Given the description of an element on the screen output the (x, y) to click on. 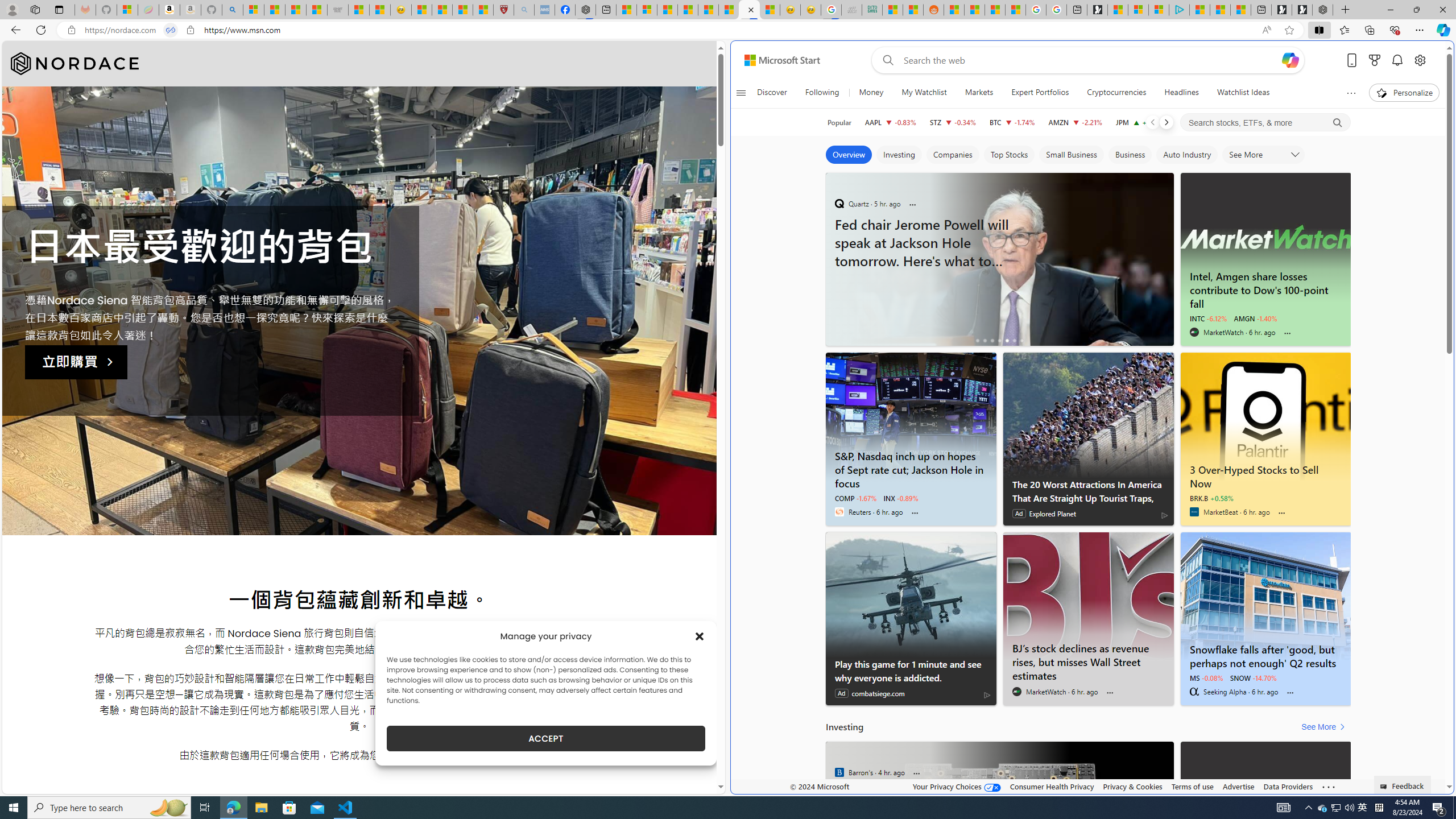
Business (1129, 154)
Popular (839, 121)
Headlines (1181, 92)
Auto Industry (1187, 154)
Small Business (1071, 154)
AdChoices (987, 694)
Your Privacy Choices (956, 785)
